Given the description of an element on the screen output the (x, y) to click on. 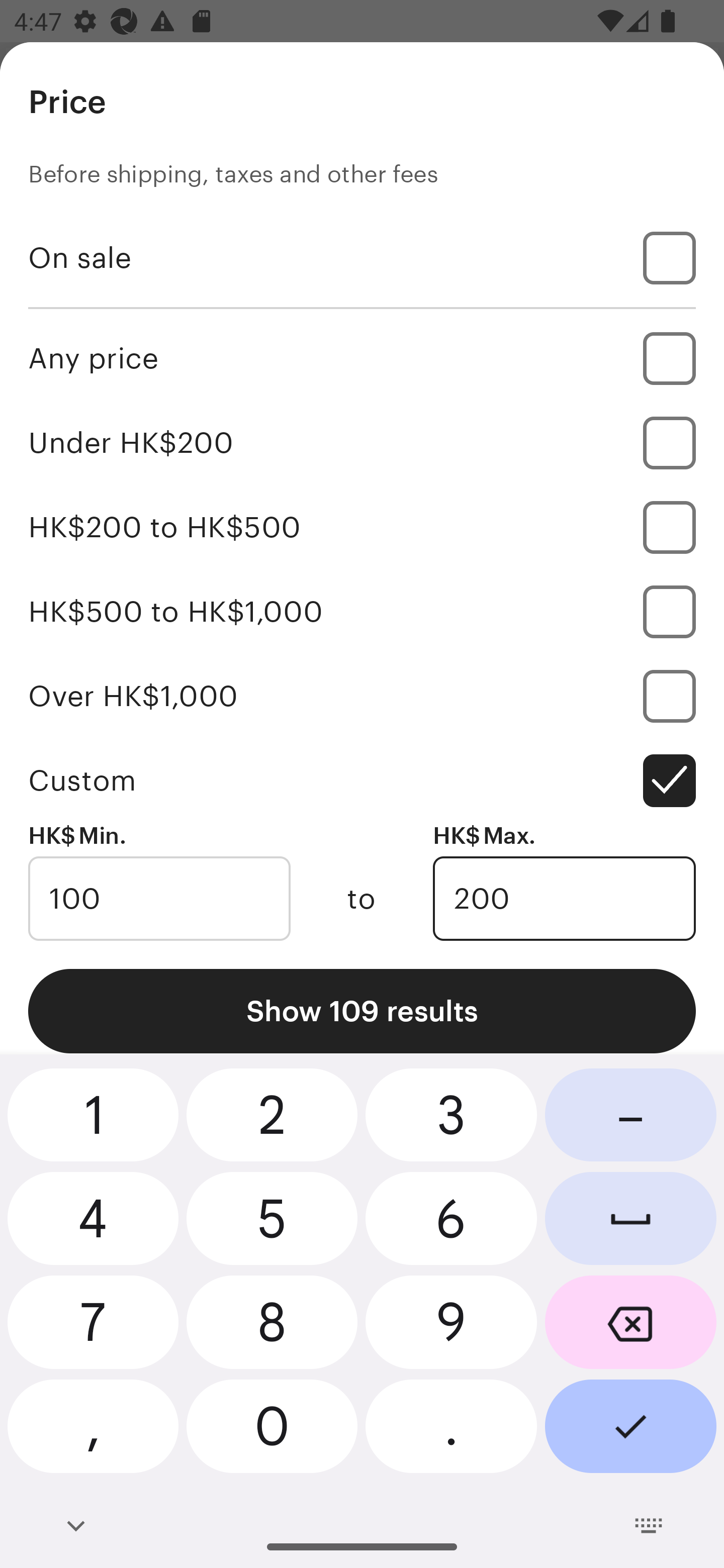
On sale (362, 257)
Any price (362, 357)
Under HK$200 (362, 441)
HK$200 to HK$500 (362, 526)
HK$500 to HK$1,000 (362, 611)
Over HK$1,000 (362, 695)
Custom (362, 780)
100 (159, 898)
200 (563, 898)
Show 109 results (361, 1011)
